Given the description of an element on the screen output the (x, y) to click on. 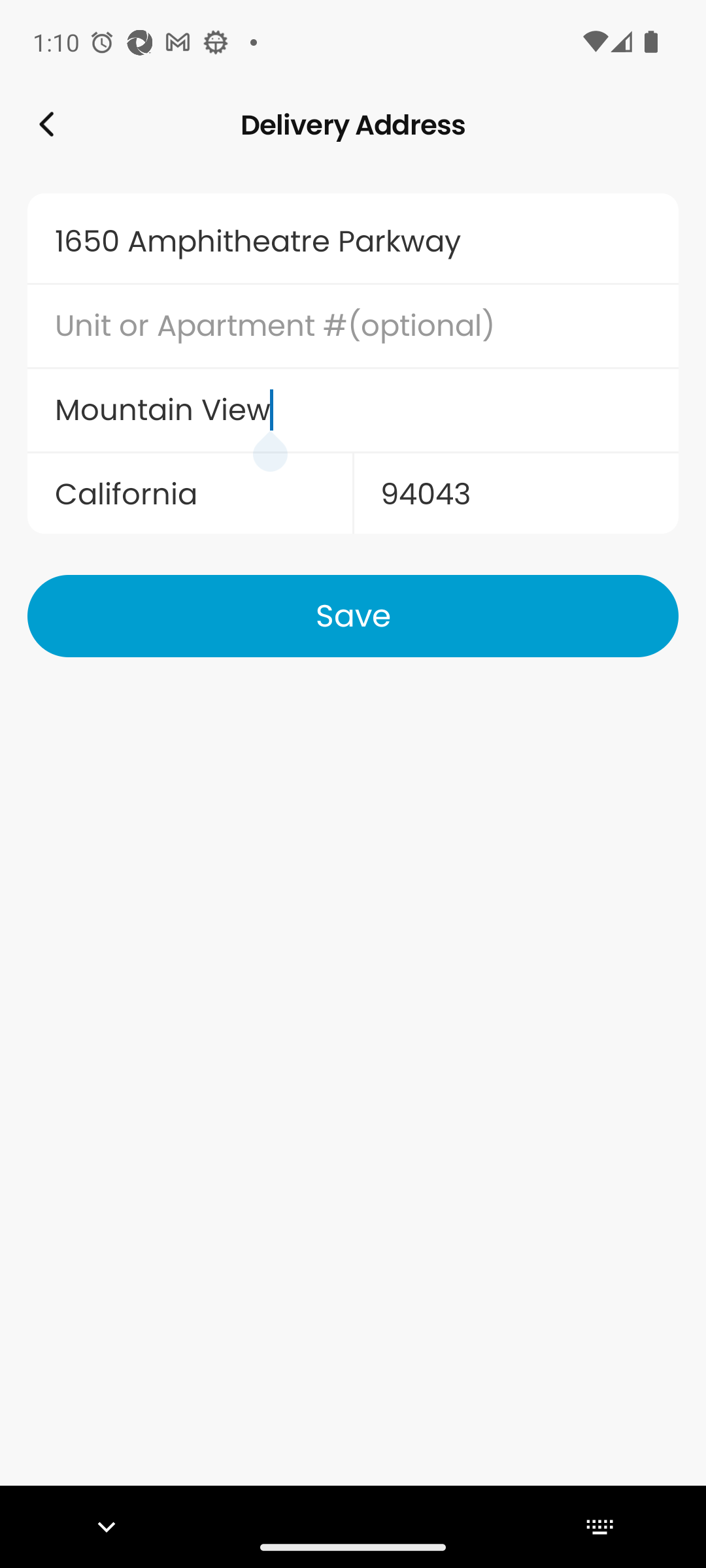
1650 Amphitheatre Parkway (352, 241)
Unit or Apartment #(optional) (352, 325)
Mountain View (352, 409)
California (190, 493)
94043 (515, 493)
Save (352, 615)
